Given the description of an element on the screen output the (x, y) to click on. 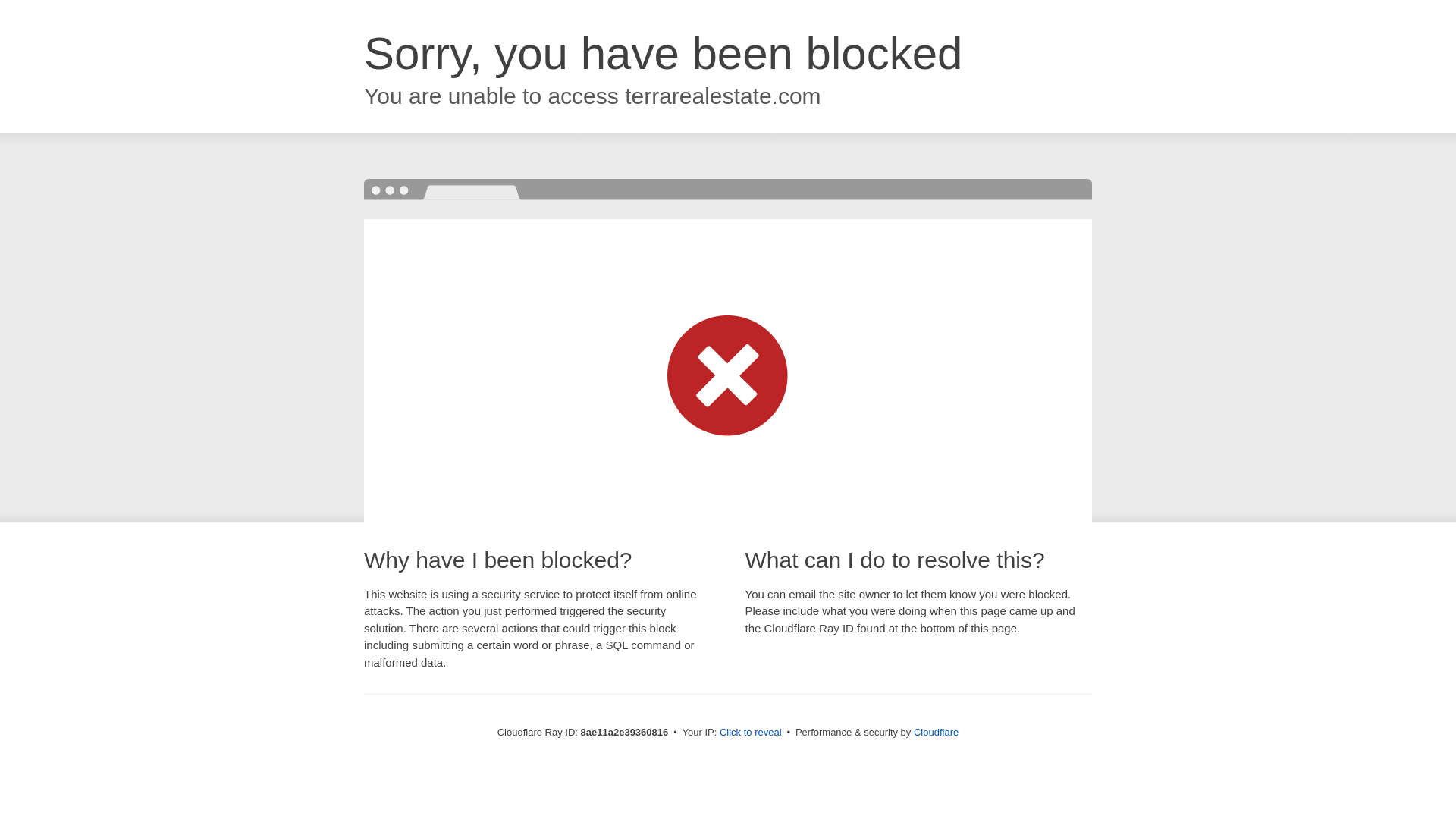
Cloudflare (936, 731)
Click to reveal (750, 732)
